Given the description of an element on the screen output the (x, y) to click on. 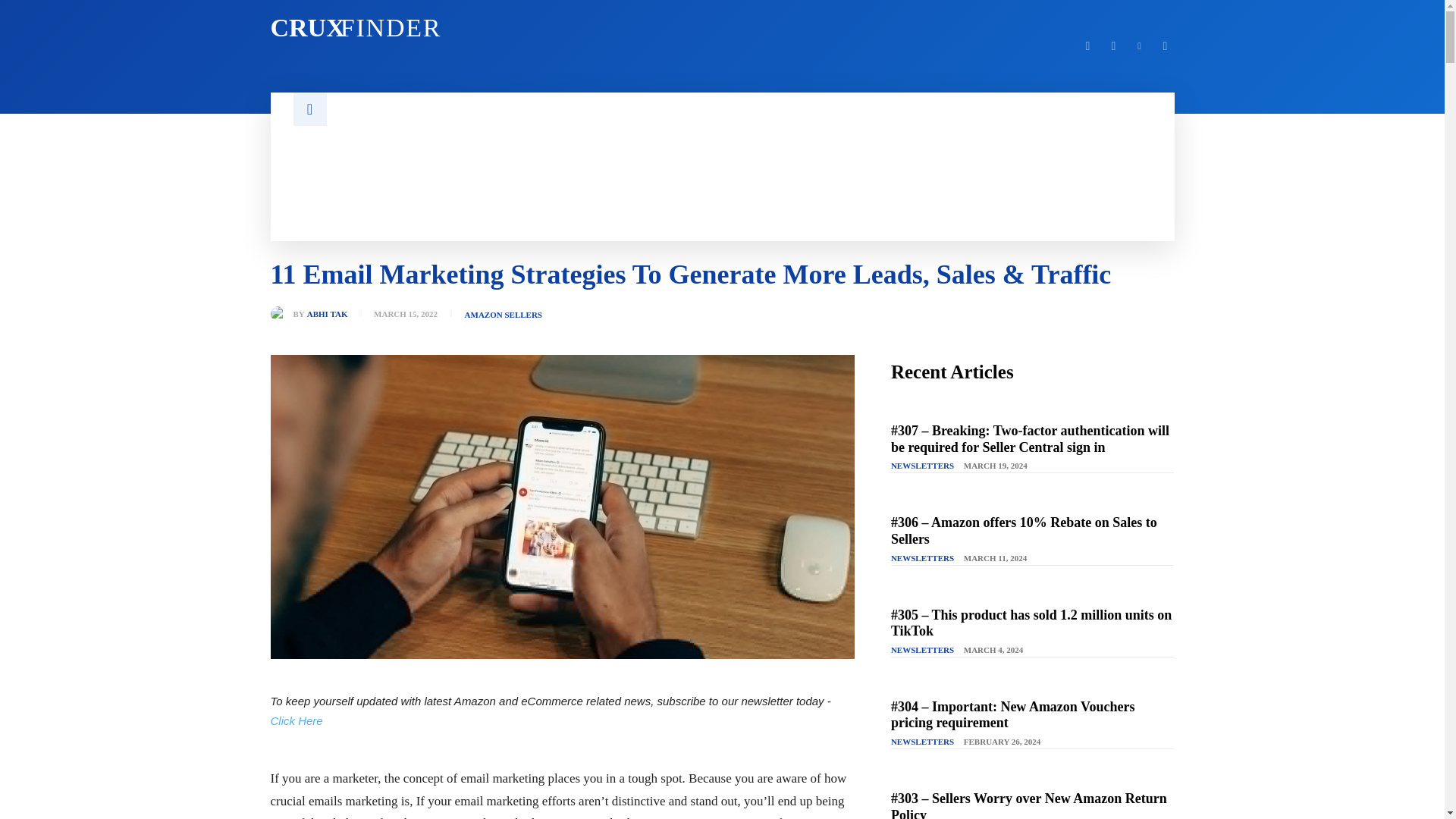
Facebook (486, 27)
Instagram (1087, 45)
Linkedin (1112, 45)
Twitter (1138, 45)
